Given the description of an element on the screen output the (x, y) to click on. 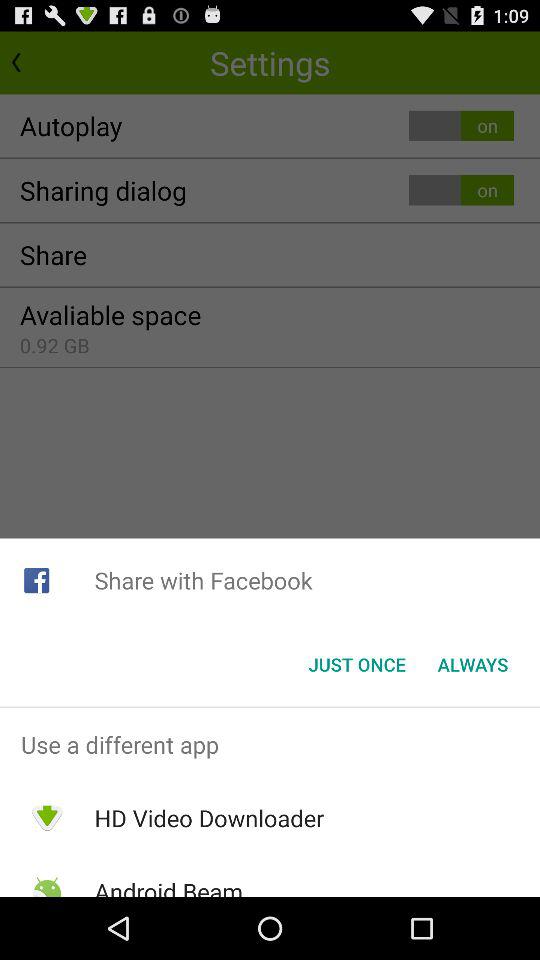
select the icon to the right of just once (472, 664)
